Given the description of an element on the screen output the (x, y) to click on. 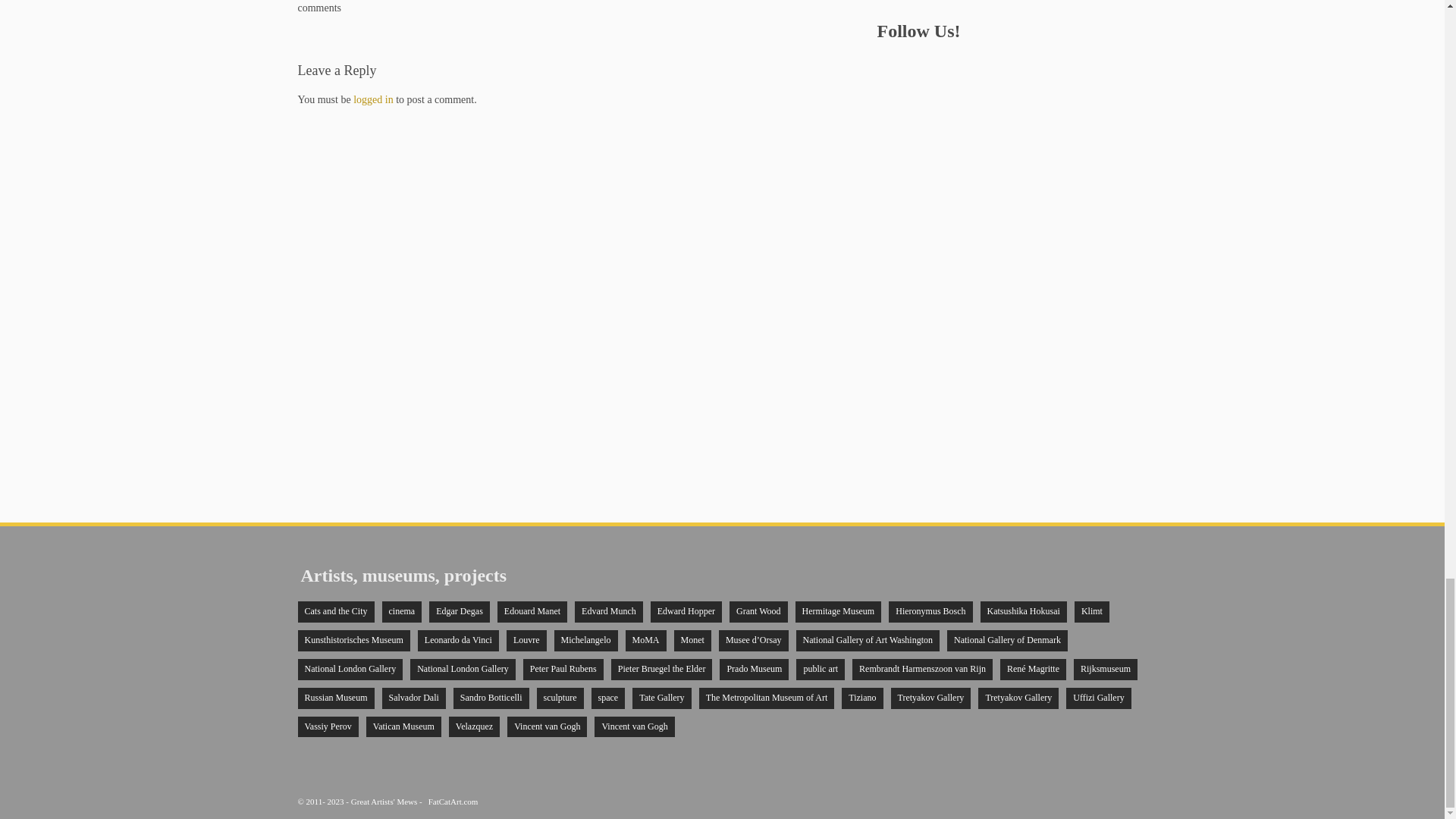
Follow Us on Facebook (885, 64)
Follow Us on Twitter (917, 64)
logged in (373, 99)
